Given the description of an element on the screen output the (x, y) to click on. 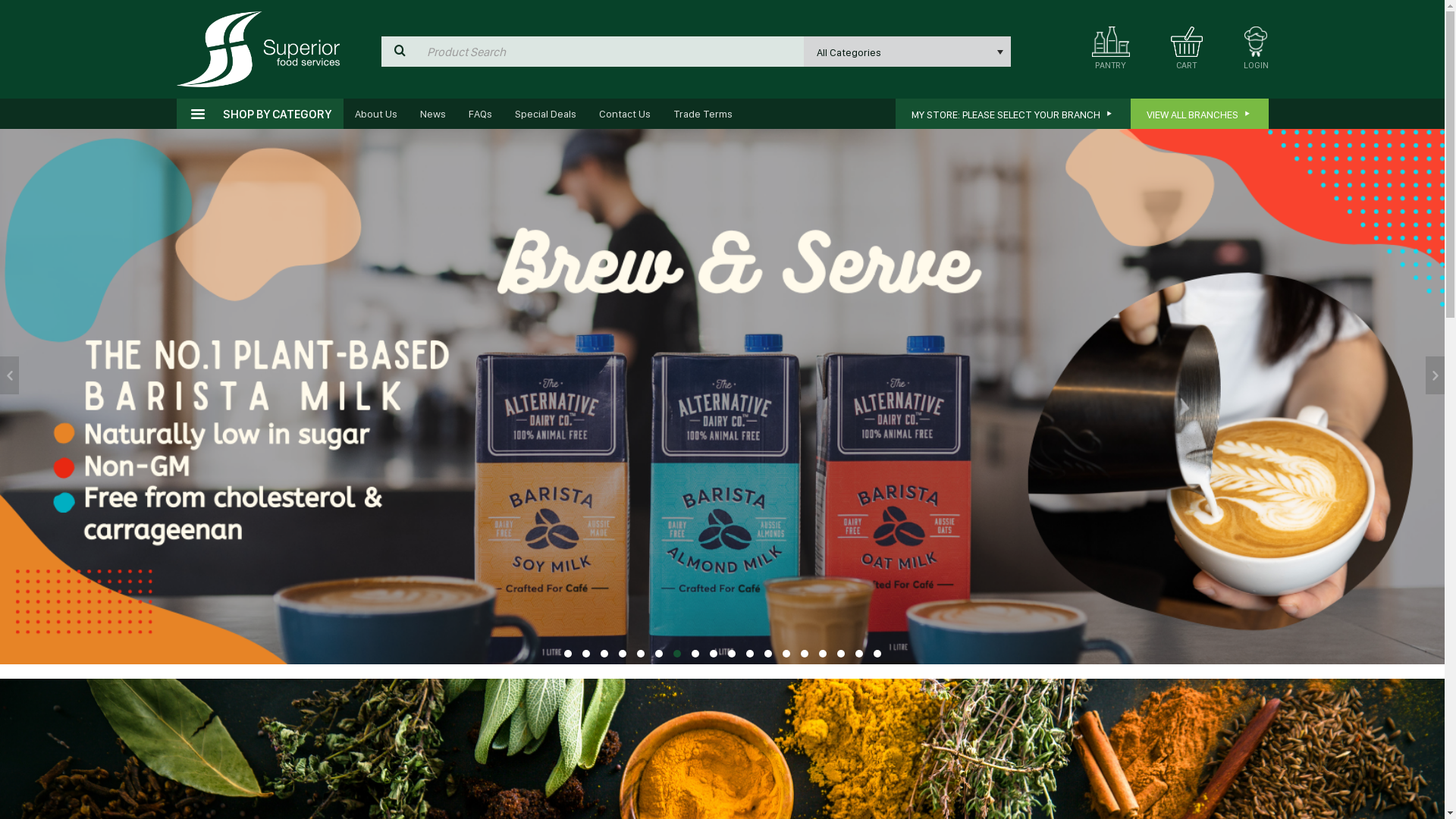
CART Element type: text (1186, 52)
LOGIN Element type: text (1255, 52)
News Element type: text (431, 113)
MY STORE: PLEASE SELECT YOUR BRANCH Element type: text (1011, 113)
Trade Terms Element type: text (702, 113)
Special Deals Element type: text (545, 113)
Contact Us Element type: text (623, 113)
FAQs Element type: text (479, 113)
PANTRY Element type: text (1110, 41)
VIEW ALL BRANCHES Element type: text (1198, 113)
About Us Element type: text (374, 113)
